Given the description of an element on the screen output the (x, y) to click on. 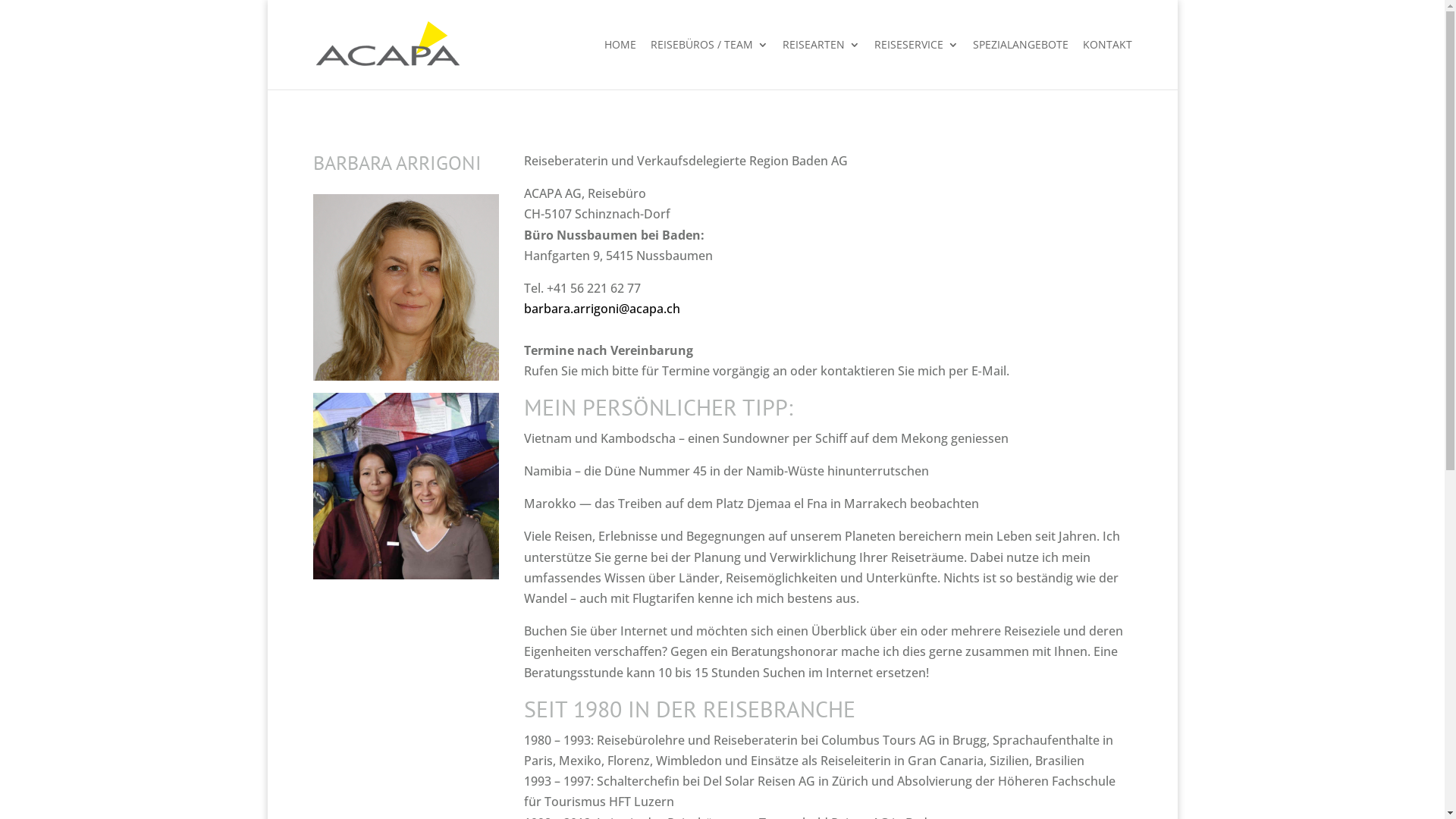
REISEARTEN Element type: text (820, 64)
KONTAKT Element type: text (1107, 64)
HOME Element type: text (619, 64)
REISESERVICE Element type: text (915, 64)
barbara.arrigoni@acapa.ch Element type: text (602, 308)
SPEZIALANGEBOTE Element type: text (1019, 64)
